Given the description of an element on the screen output the (x, y) to click on. 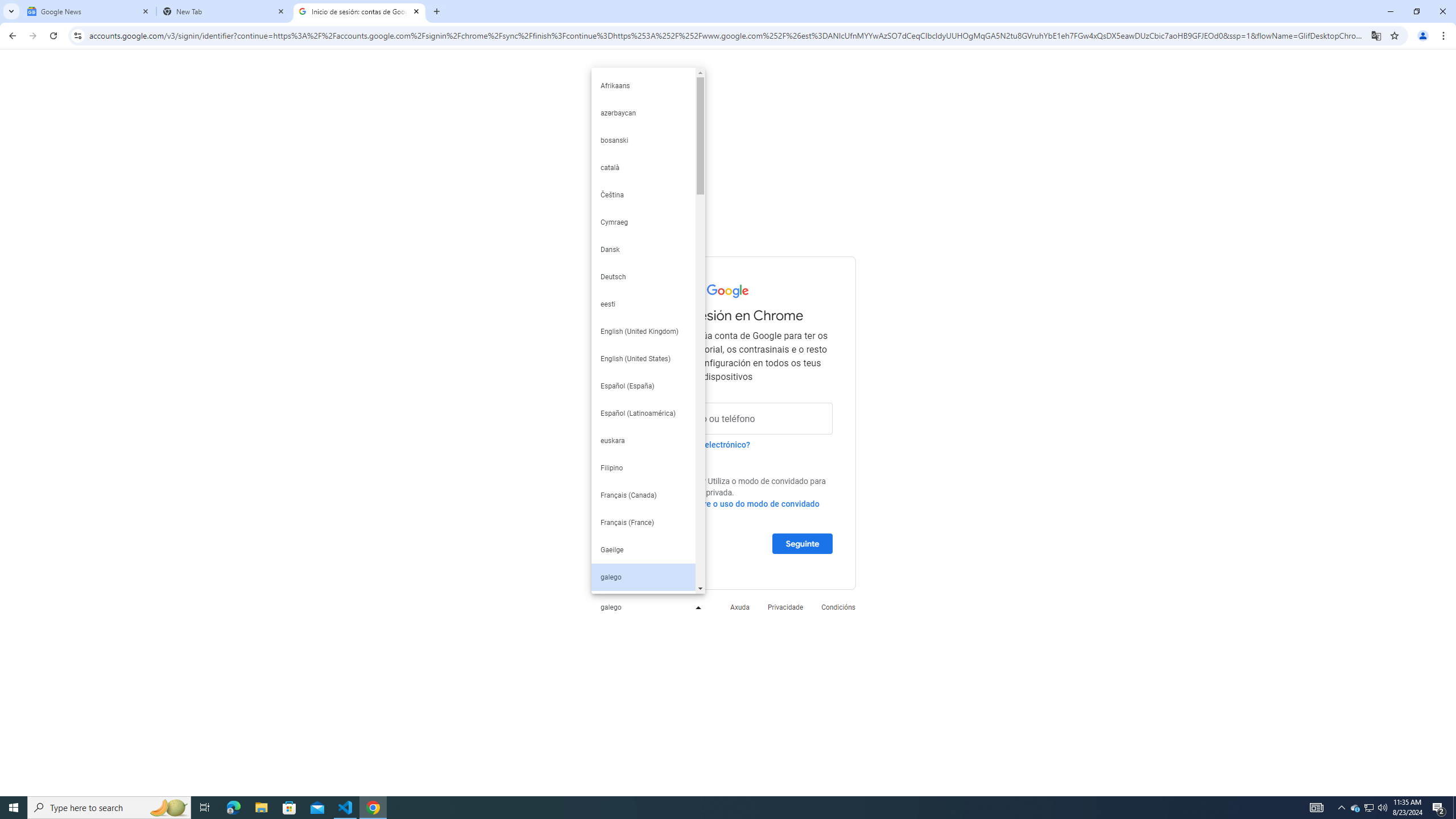
Bookmark this tab (1393, 35)
galego (647, 606)
Minimize (1390, 11)
Axuda (739, 606)
Address and search bar (726, 35)
Cymraeg (643, 221)
Reload (52, 35)
New Tab (224, 11)
Seguinte (801, 543)
Search tabs (10, 11)
